Given the description of an element on the screen output the (x, y) to click on. 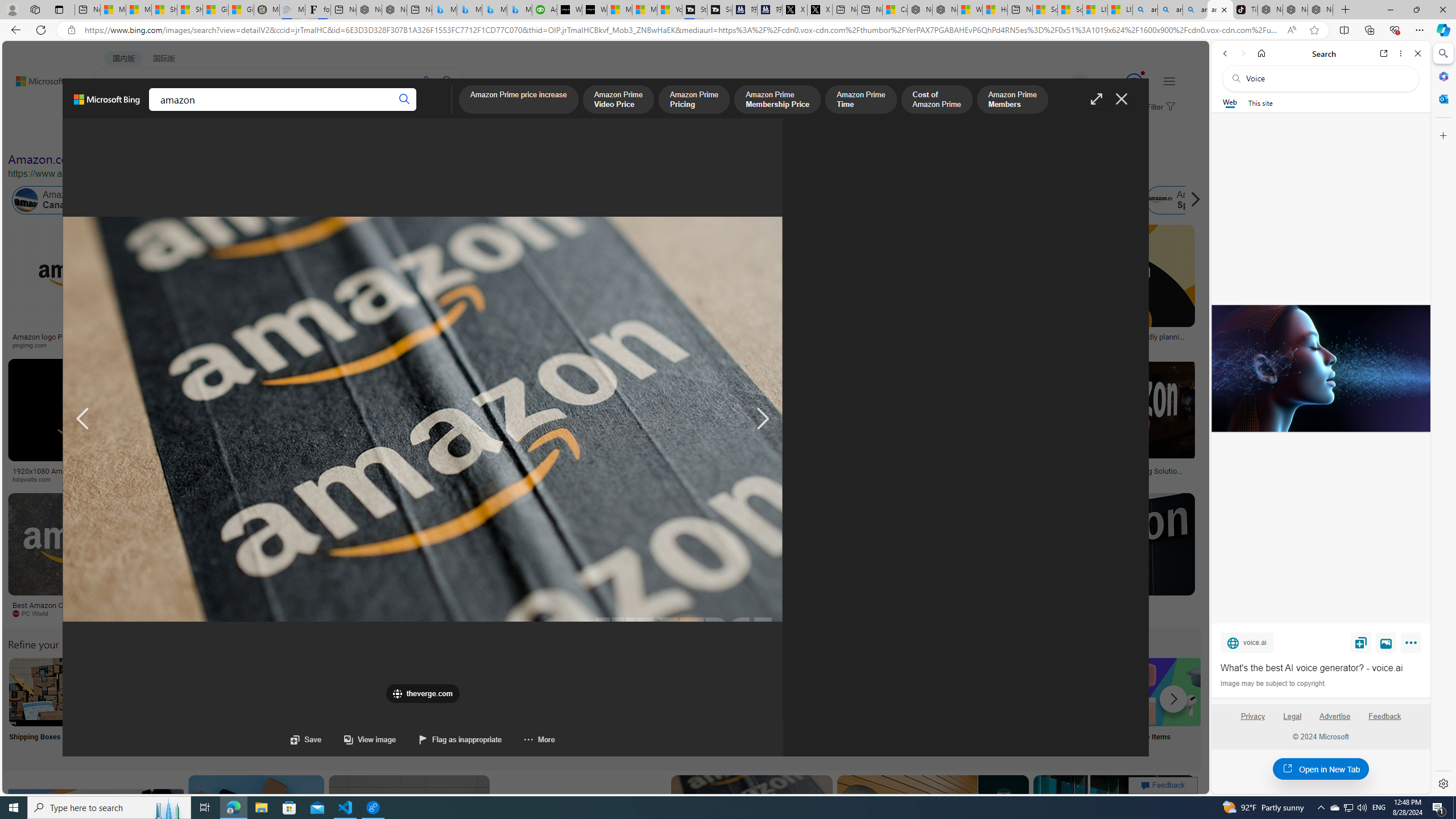
Save (306, 739)
PC World (34, 612)
Listen: What's next for Amazon? (363, 336)
Echo Dot 4th Gen (673, 264)
Amazon.com. Spend less. Smile more. (110, 158)
Kindle Paperwhite Case (673, 298)
Accounting Software for Accountants, CPAs and Bookkeepers (544, 9)
Marketplace (459, 479)
Prime Shopping Online (944, 706)
Retail Store (493, 706)
